Given the description of an element on the screen output the (x, y) to click on. 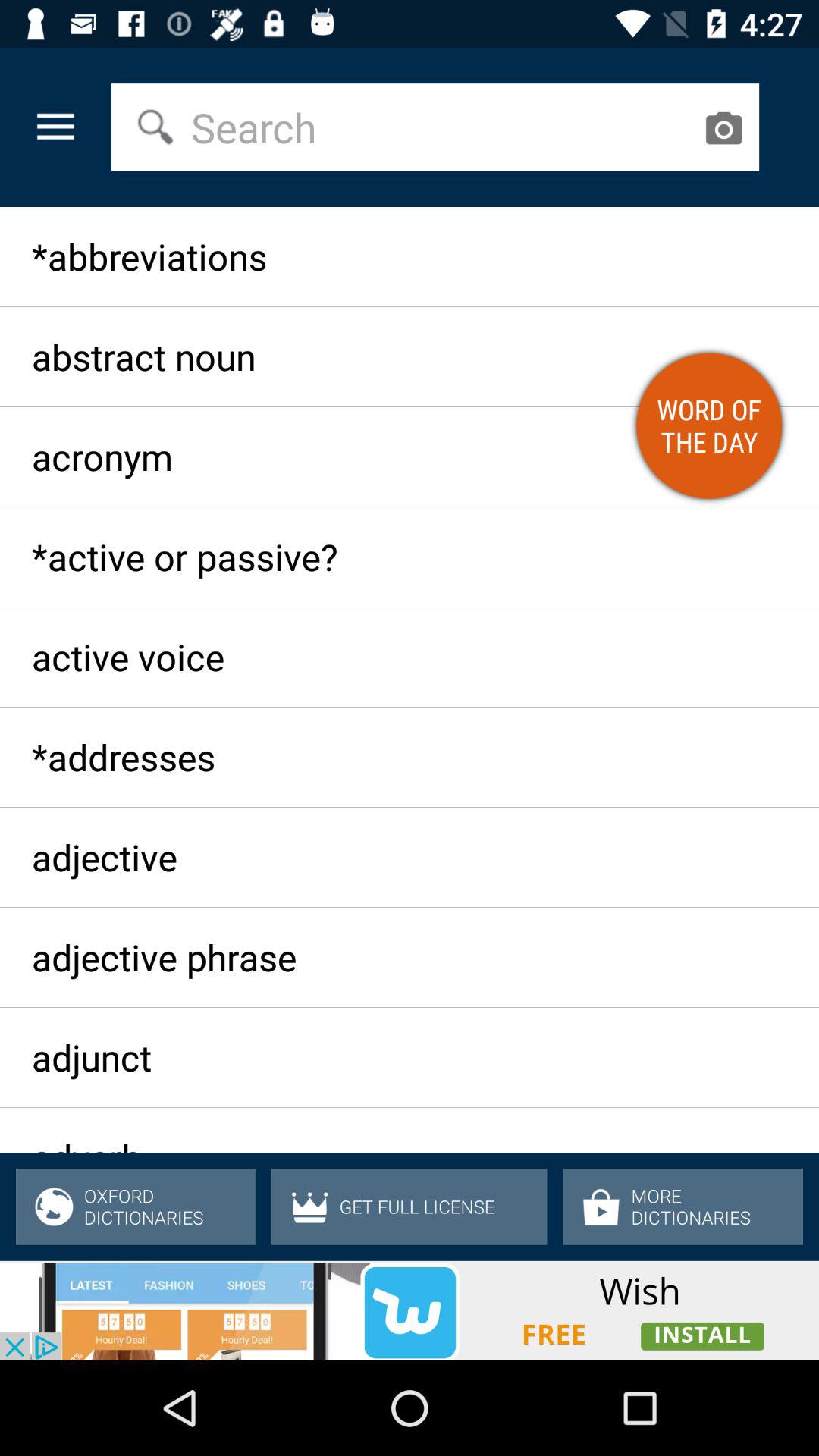
advertisement (409, 1310)
